Given the description of an element on the screen output the (x, y) to click on. 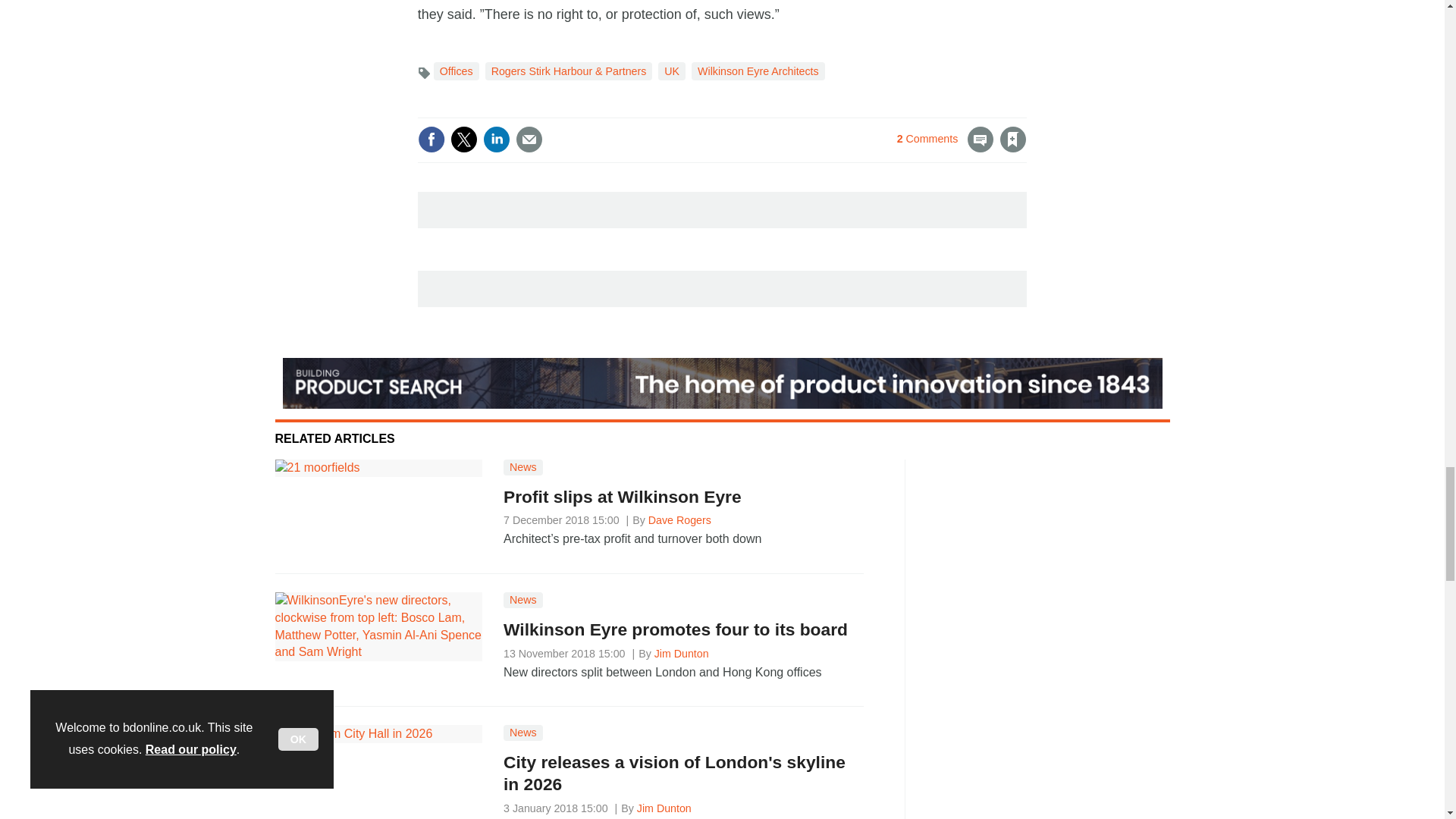
Share this on Linked in (497, 139)
Share this on Twitter (463, 139)
2 Comments (945, 148)
Email this article (529, 139)
Share this on Facebook (431, 139)
